Given the description of an element on the screen output the (x, y) to click on. 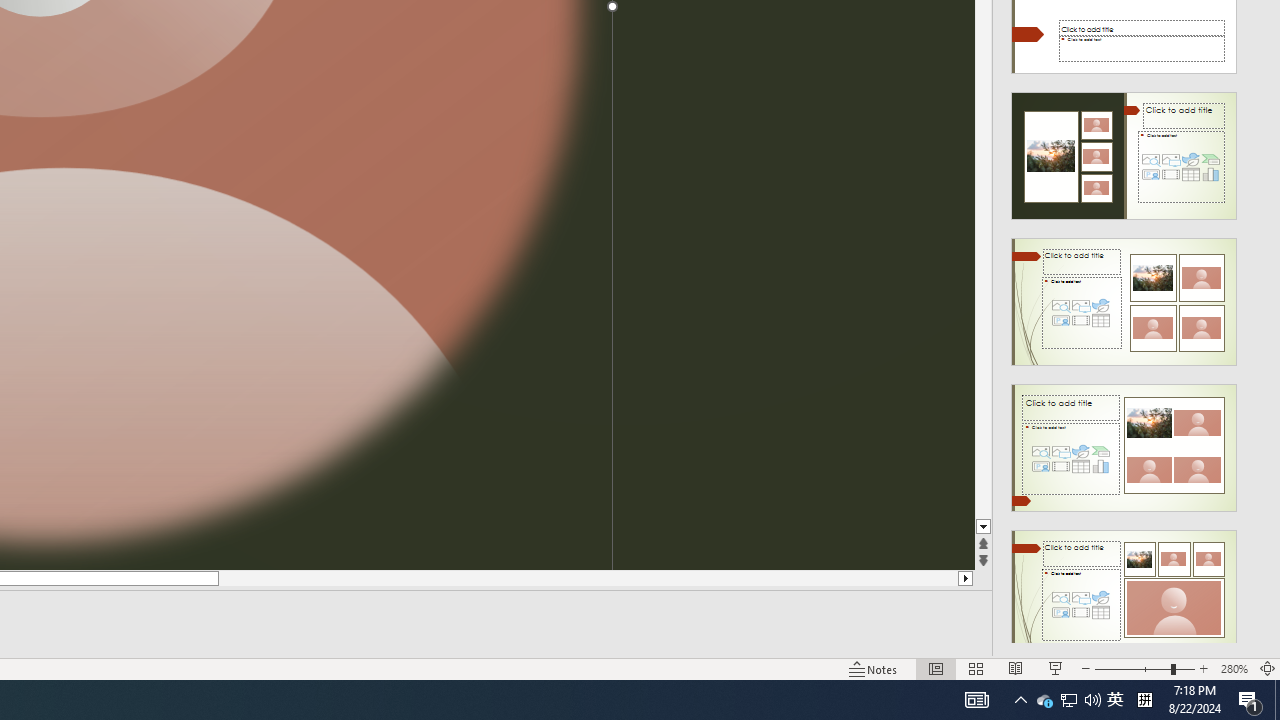
Line down (983, 527)
Zoom 280% (1234, 668)
Zoom In (1204, 668)
Zoom Out (1132, 668)
Page down (983, 283)
Design Idea (1124, 587)
Class: NetUIImage (1124, 593)
Notes  (874, 668)
Zoom to Fit  (1267, 668)
